Given the description of an element on the screen output the (x, y) to click on. 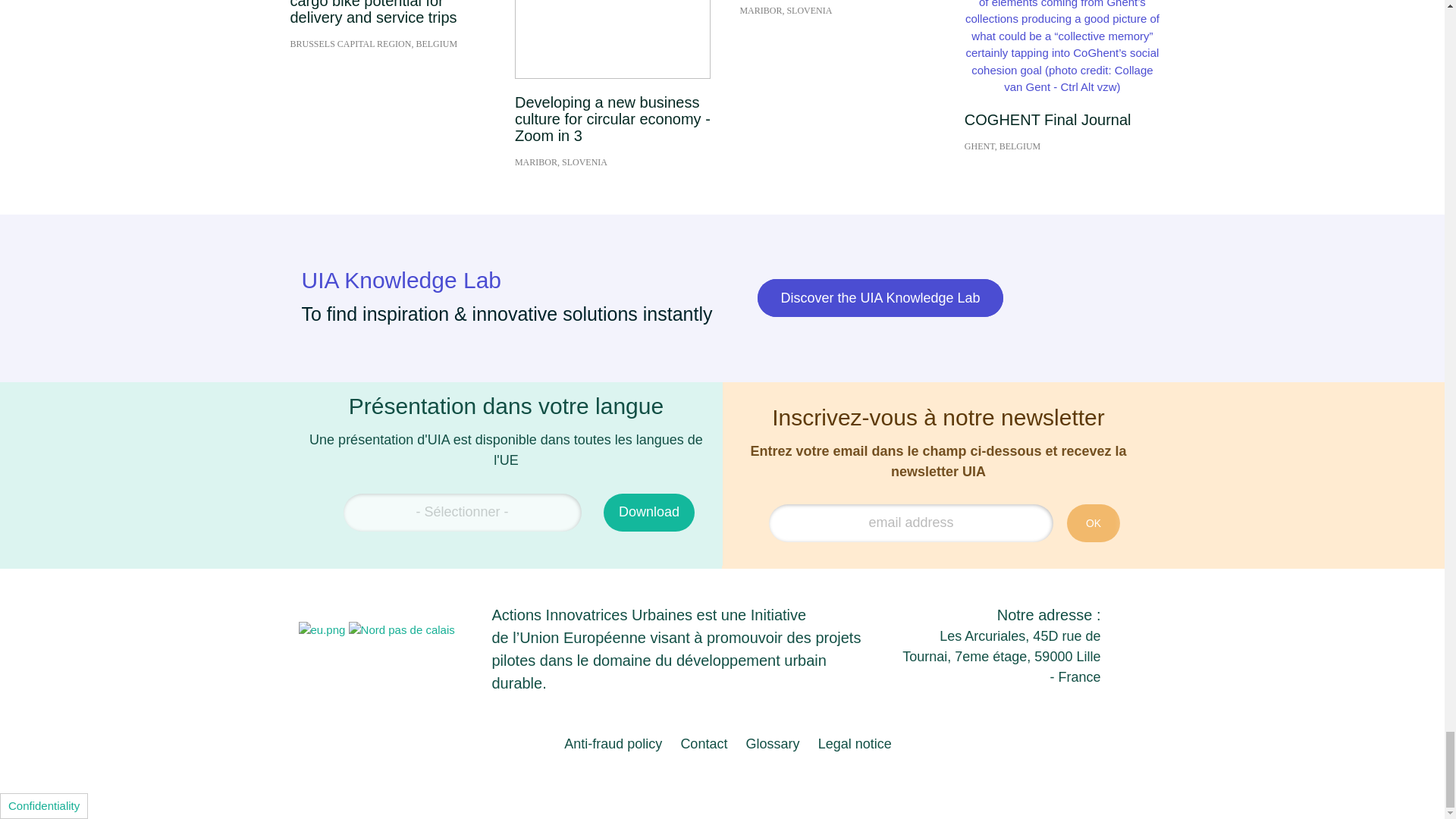
Download (649, 512)
OK (1093, 523)
Legal Notice (854, 743)
